Given the description of an element on the screen output the (x, y) to click on. 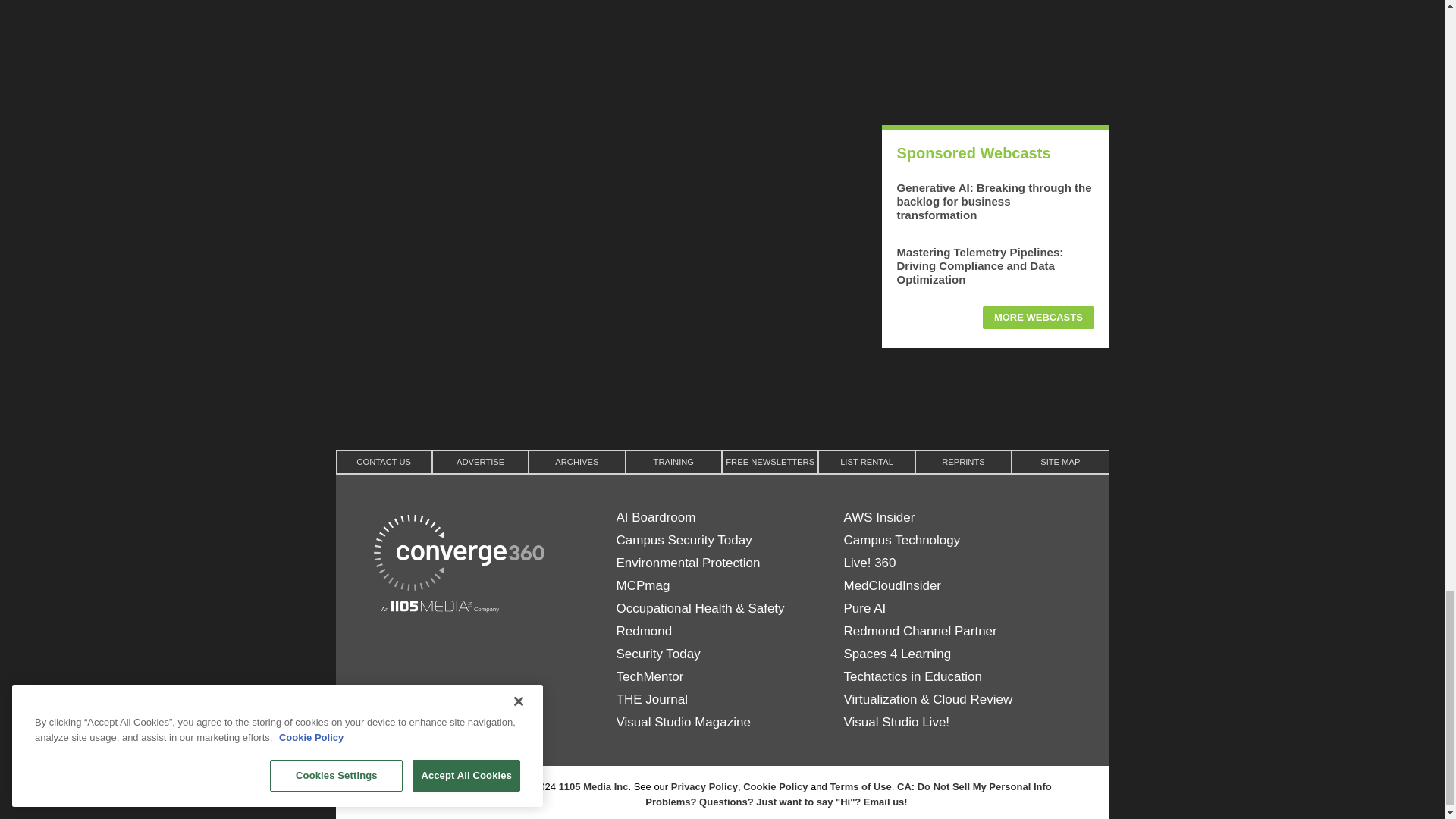
3rd party ad content (721, 397)
3rd party ad content (994, 54)
